Given the description of an element on the screen output the (x, y) to click on. 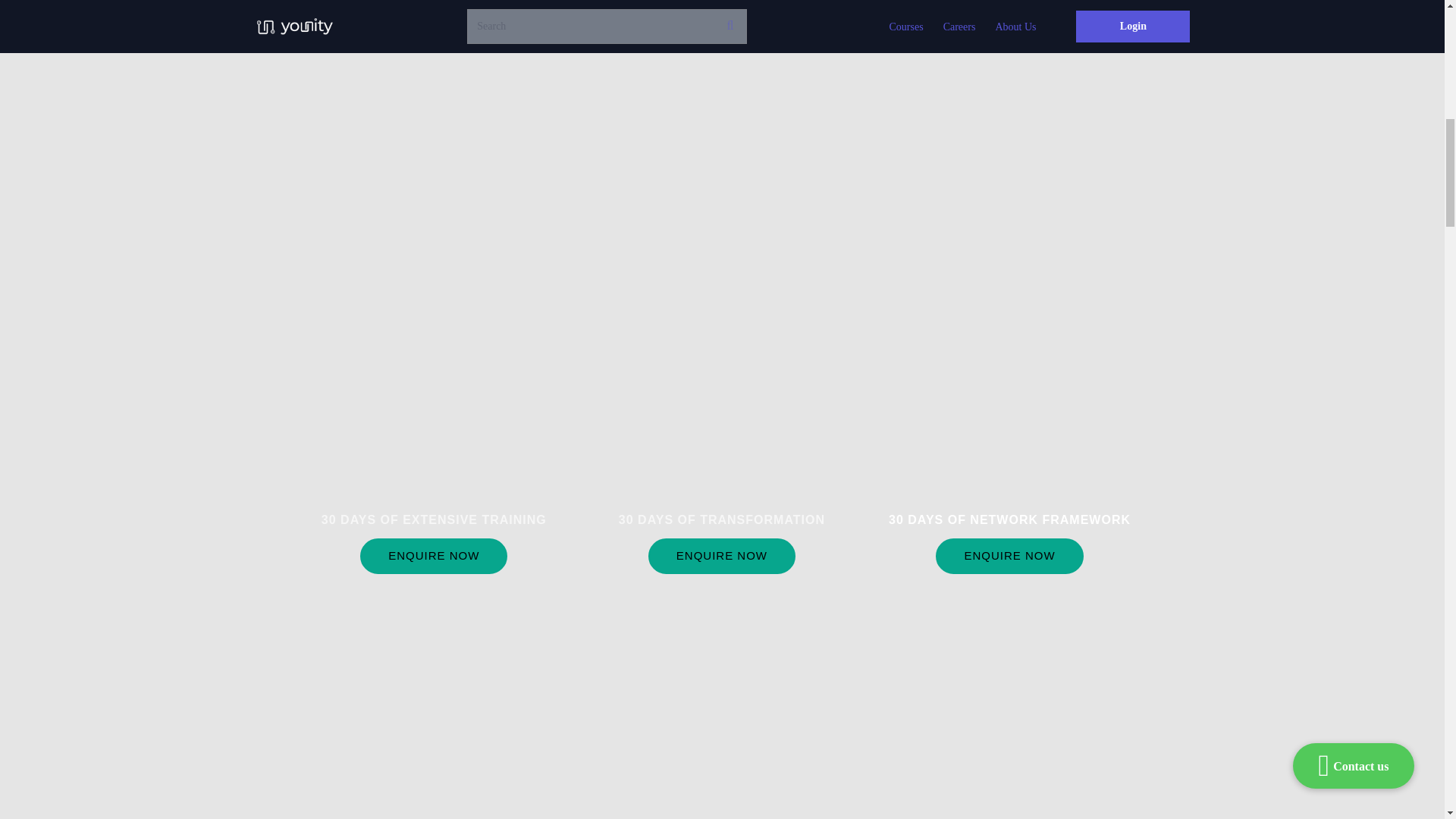
Networking Live Course (1009, 473)
Placement Training (433, 473)
ENQUIRE NOW (720, 556)
ENQUIRE NOW (432, 556)
ENQUIRE NOW (1009, 556)
Personality Development (720, 473)
